Given the description of an element on the screen output the (x, y) to click on. 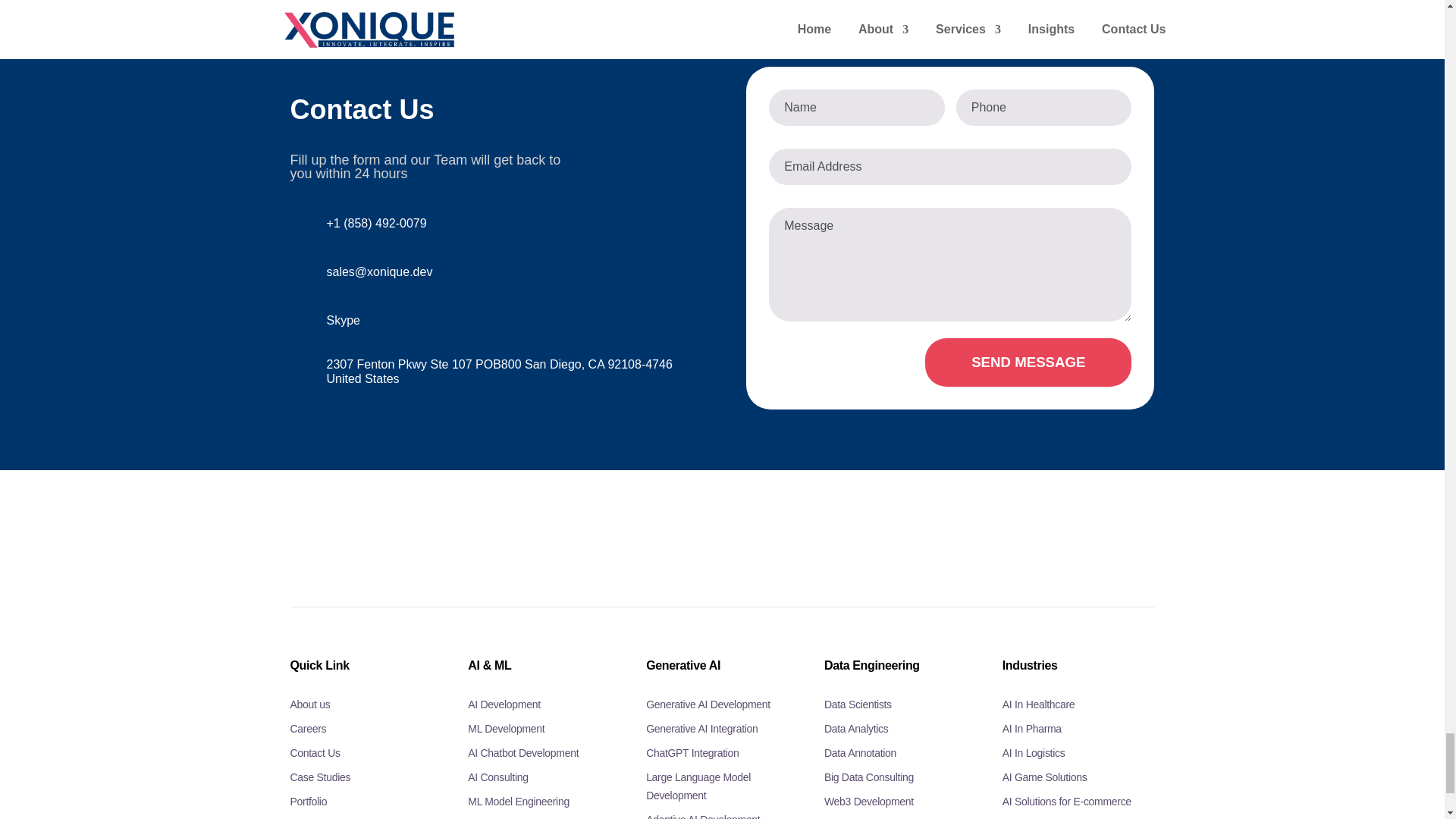
Clutch-1 (494, 538)
Frame-8-1 (1102, 538)
Frame-8 (797, 529)
extract-300x300-1-1 (646, 538)
Badge-Top-Web-Development-Companies-2021-1 (950, 538)
ISO-2-1 (342, 538)
